Given the description of an element on the screen output the (x, y) to click on. 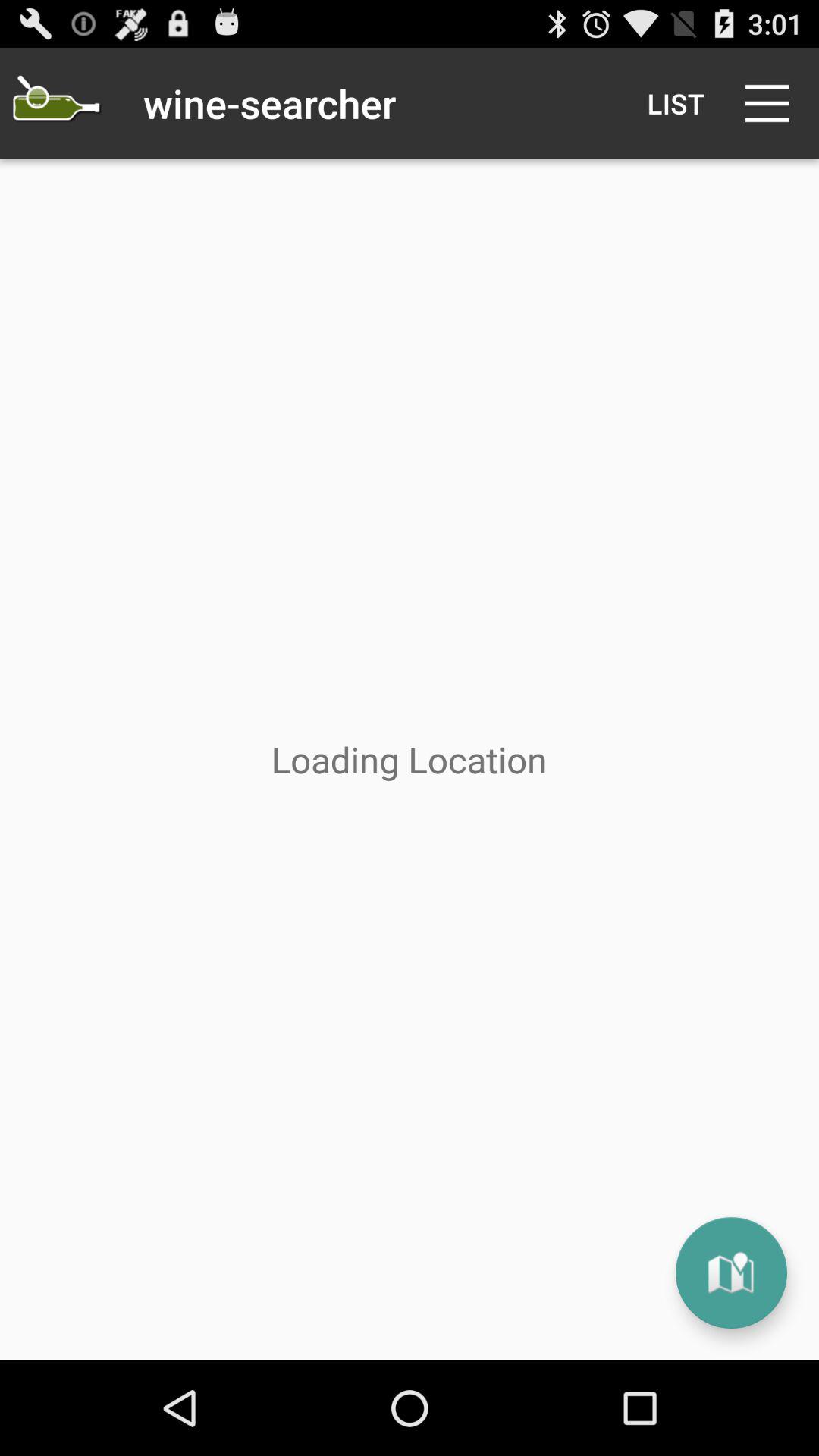
turn off icon to the right of wine-searcher (675, 103)
